Given the description of an element on the screen output the (x, y) to click on. 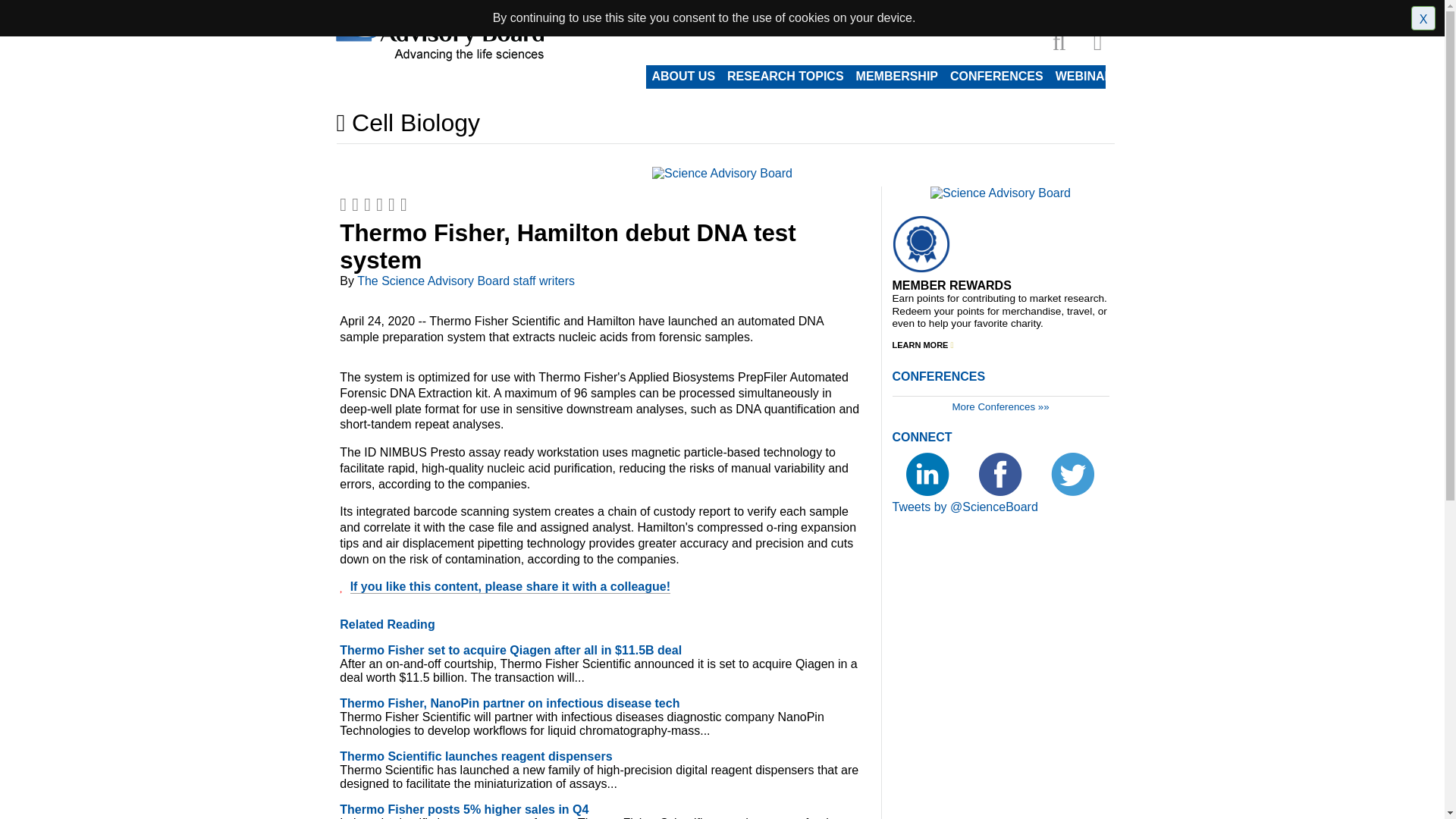
CONFERENCES (996, 76)
Science Advisory Board (1000, 192)
ABOUT US (684, 76)
Member Sign In (1013, 8)
Thermo Fisher, Hamilton debut DNA test system (566, 246)
Thermo Scientific launches reagent dispensers (475, 756)
The Science Advisory Board staff writers (465, 280)
WEBINARS (1087, 76)
Cell Biology (725, 126)
Rewards (1083, 8)
RESEARCH TOPICS (785, 76)
If you like this content, please share it with a colleague! (509, 586)
Science Advisory Board (722, 173)
Thermo Fisher, NanoPin partner on infectious disease tech (509, 703)
MEMBERSHIP (896, 76)
